Given the description of an element on the screen output the (x, y) to click on. 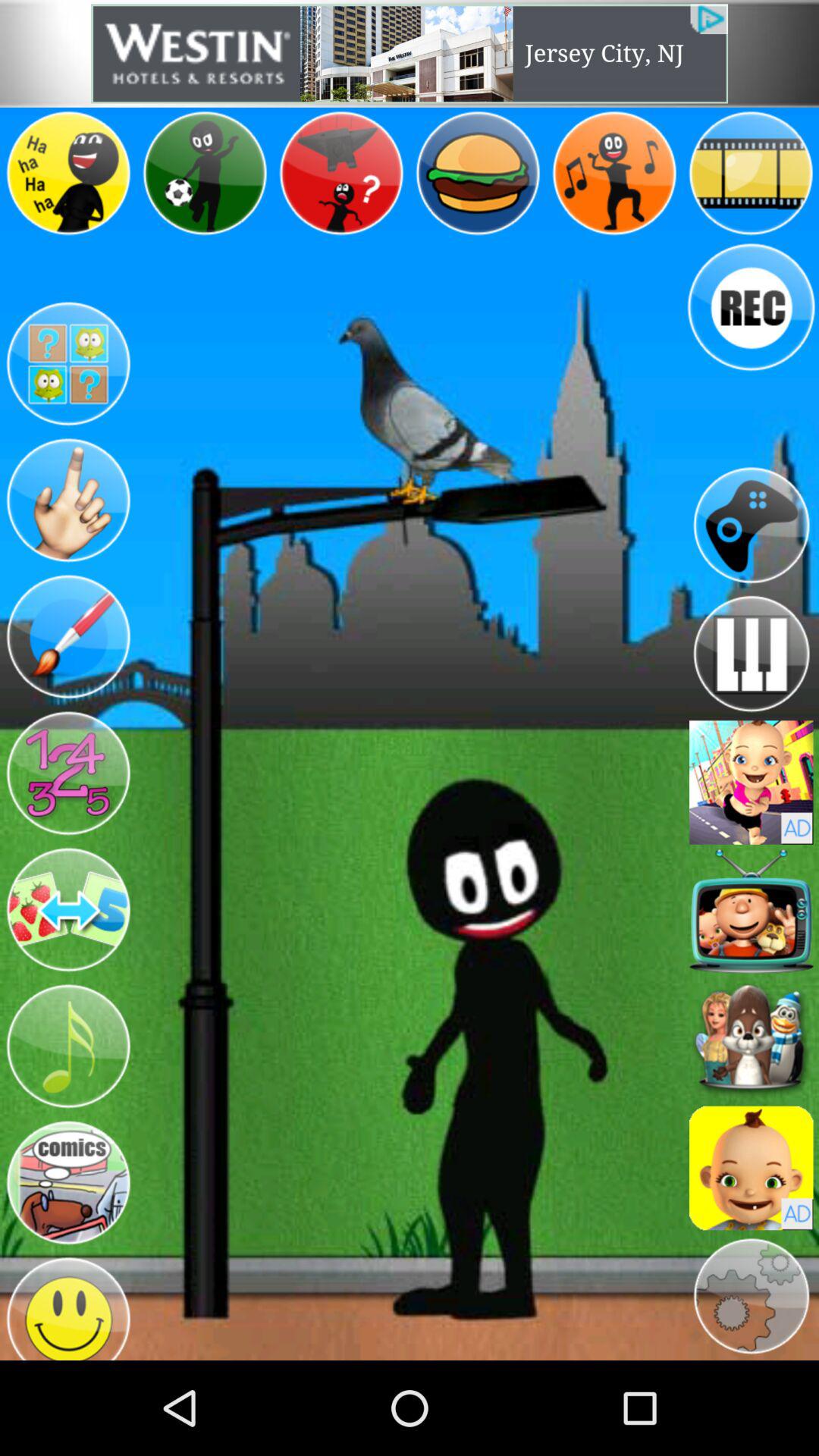
switch to paint option (68, 636)
